Given the description of an element on the screen output the (x, y) to click on. 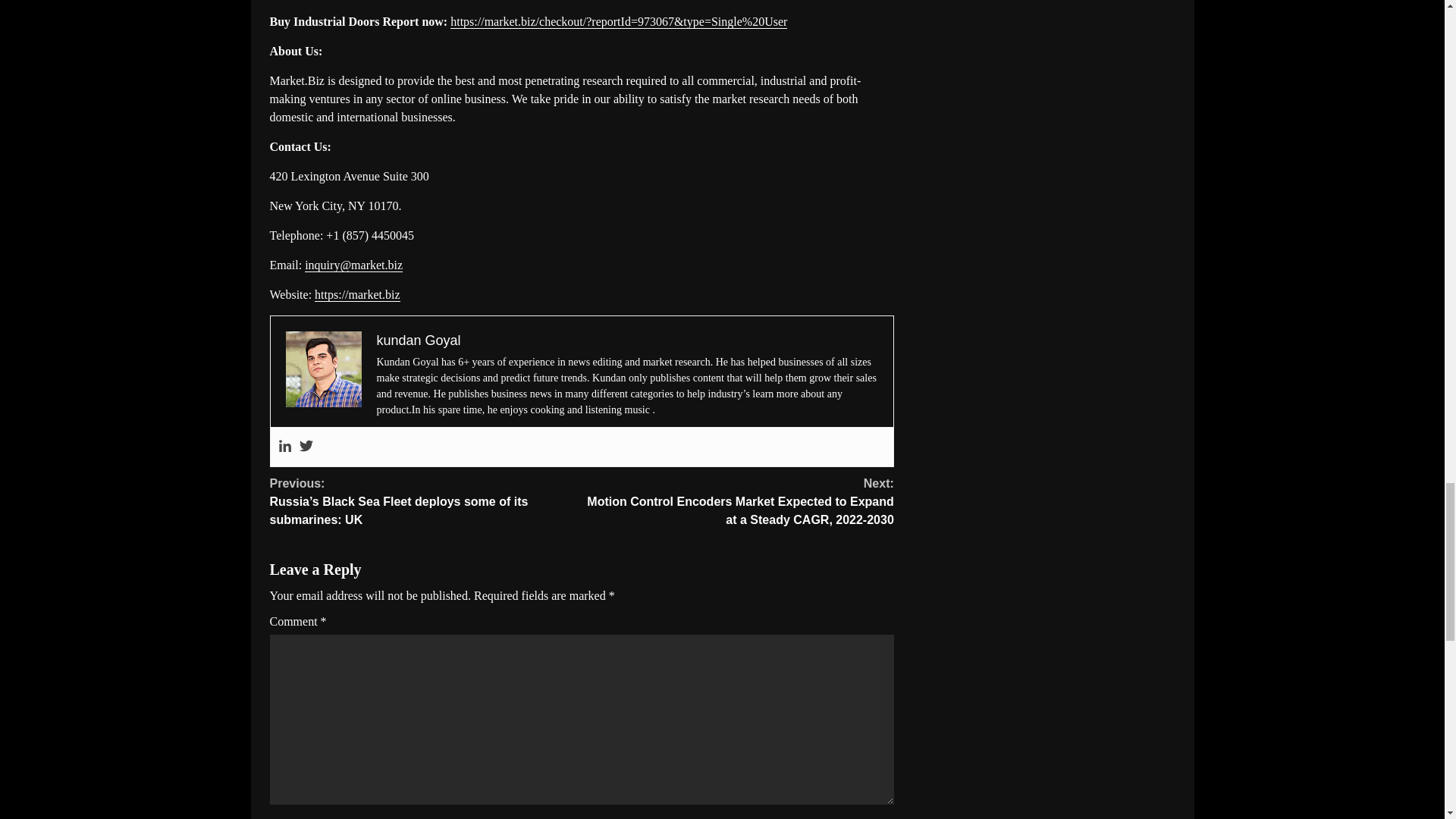
kundan Goyal (417, 340)
